Given the description of an element on the screen output the (x, y) to click on. 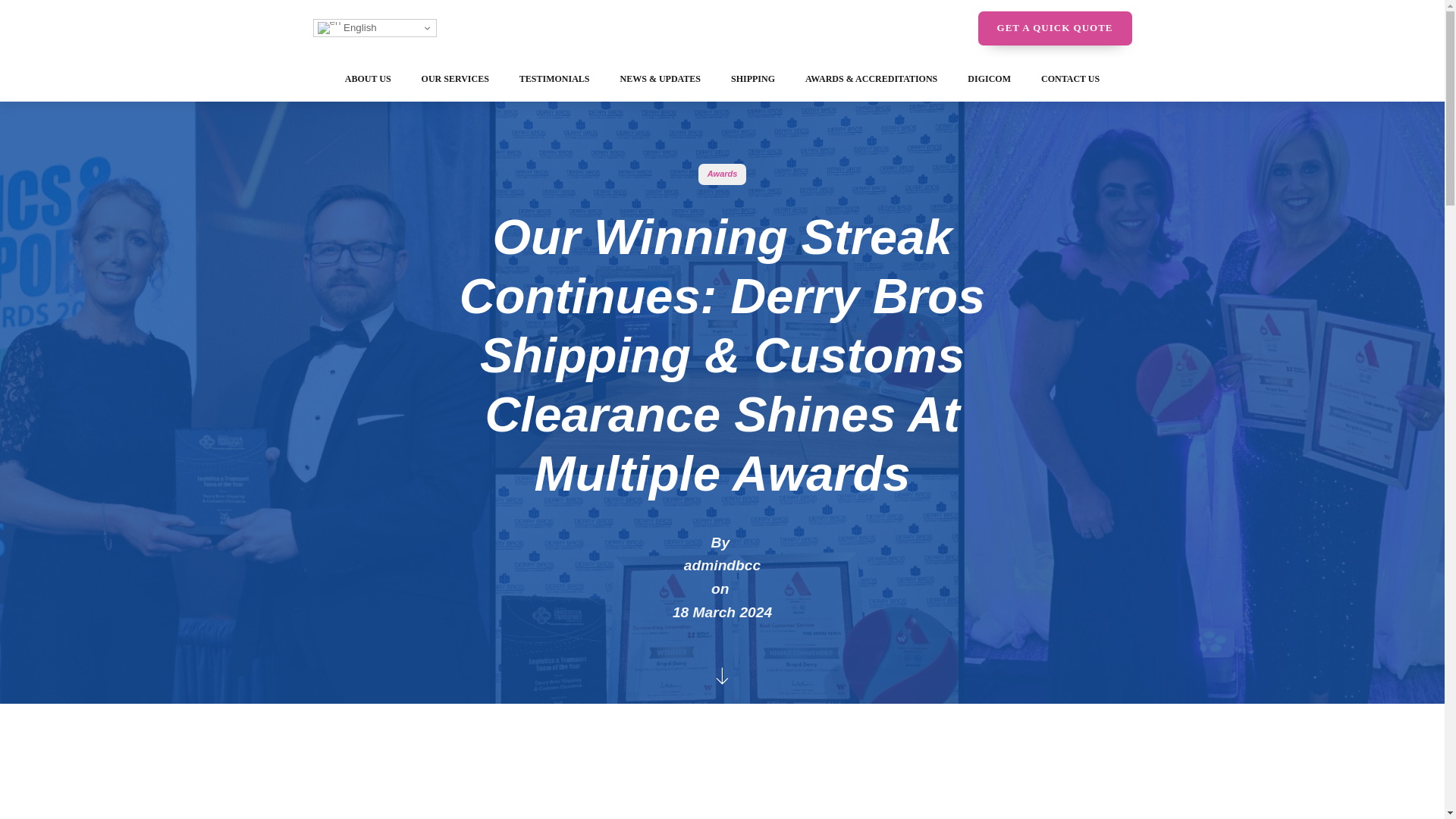
GET A QUICK QUOTE (1055, 28)
ABOUT US (368, 78)
CONTACT US (1070, 78)
TESTIMONIALS (554, 78)
English (374, 27)
SHIPPING (753, 78)
DIGICOM (989, 78)
OUR SERVICES (454, 78)
Awards (722, 173)
